Given the description of an element on the screen output the (x, y) to click on. 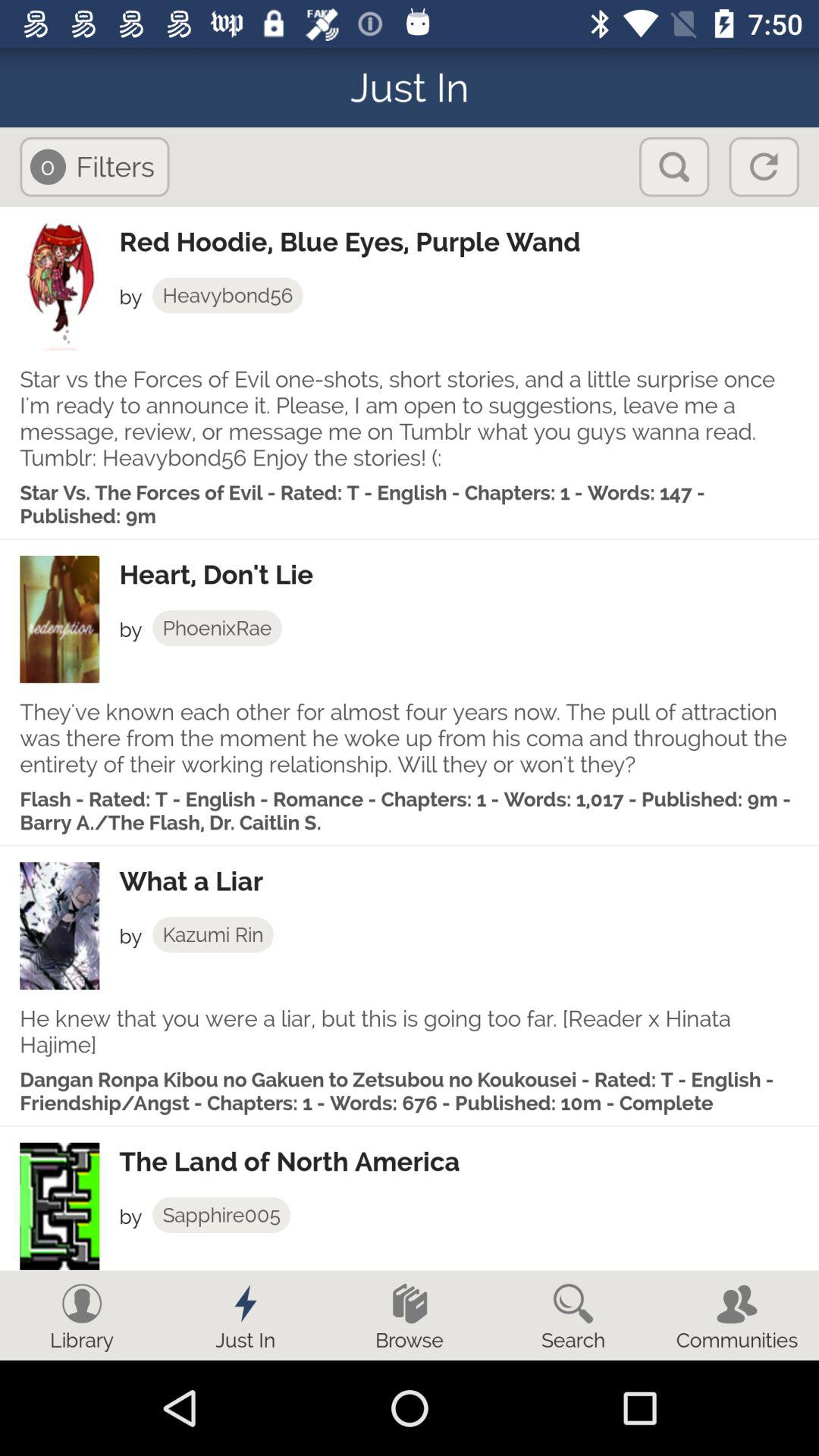
select item below the star vs the app (469, 574)
